Given the description of an element on the screen output the (x, y) to click on. 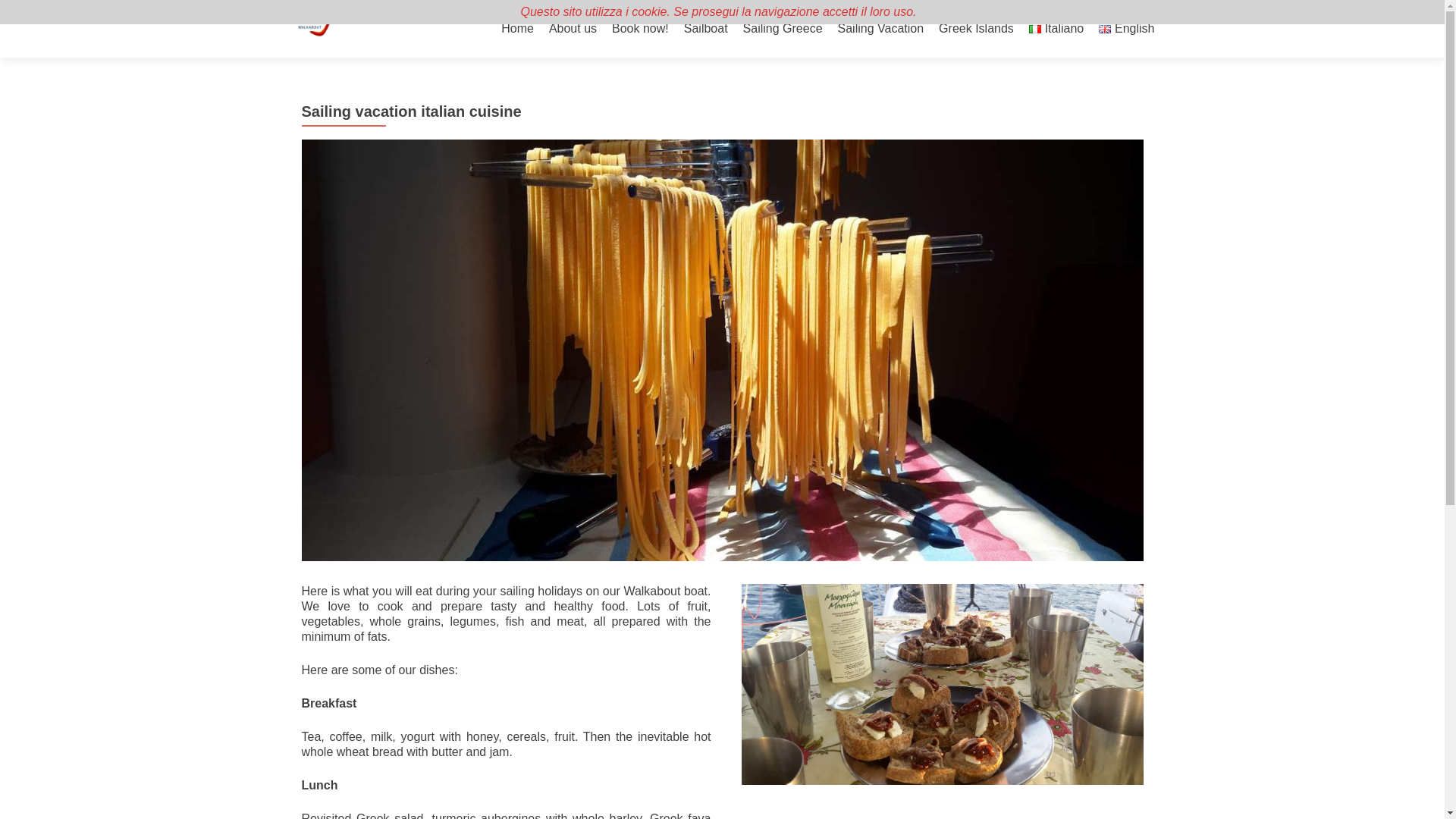
Book now! (639, 28)
About us (572, 28)
English (1126, 28)
Italiano (1056, 28)
Home (517, 28)
Sailboat (706, 28)
Greek Islands (976, 28)
Sailing Vacation (881, 28)
Sailing Greece (782, 28)
